Given the description of an element on the screen output the (x, y) to click on. 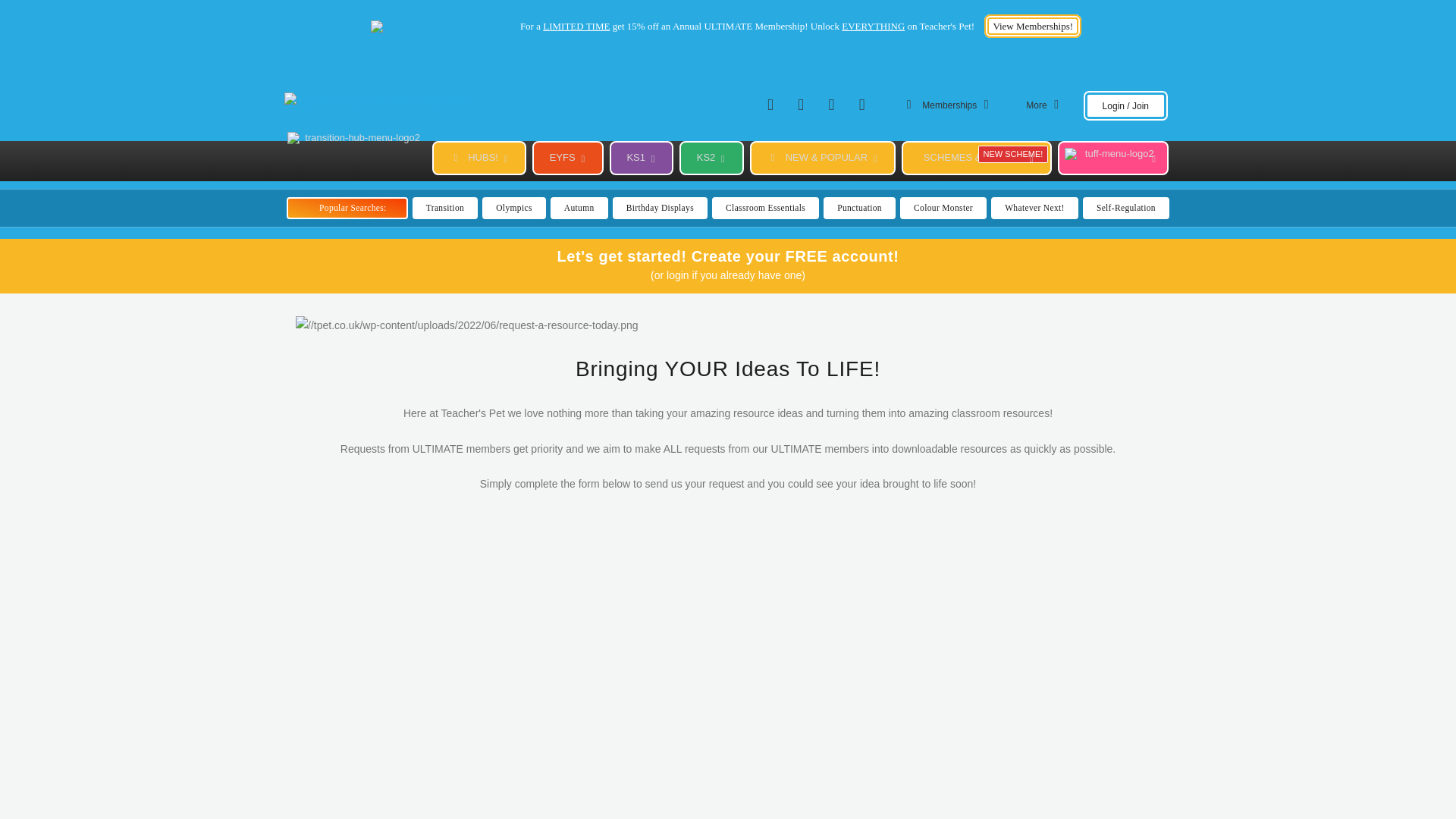
Facebook (800, 105)
More (1037, 104)
EYFS (568, 157)
HUBS! (478, 157)
